Given the description of an element on the screen output the (x, y) to click on. 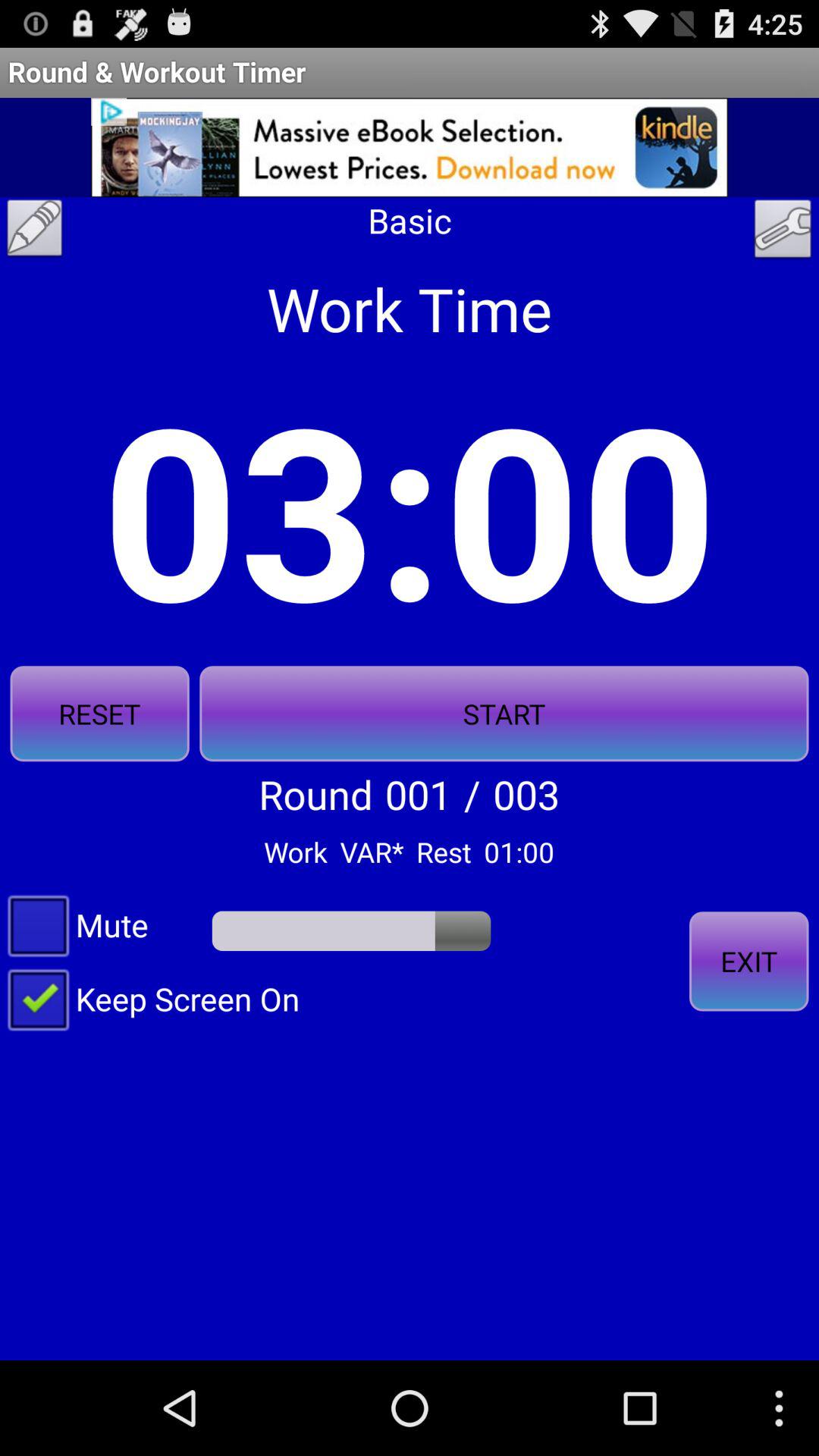
go to settings (783, 233)
